Given the description of an element on the screen output the (x, y) to click on. 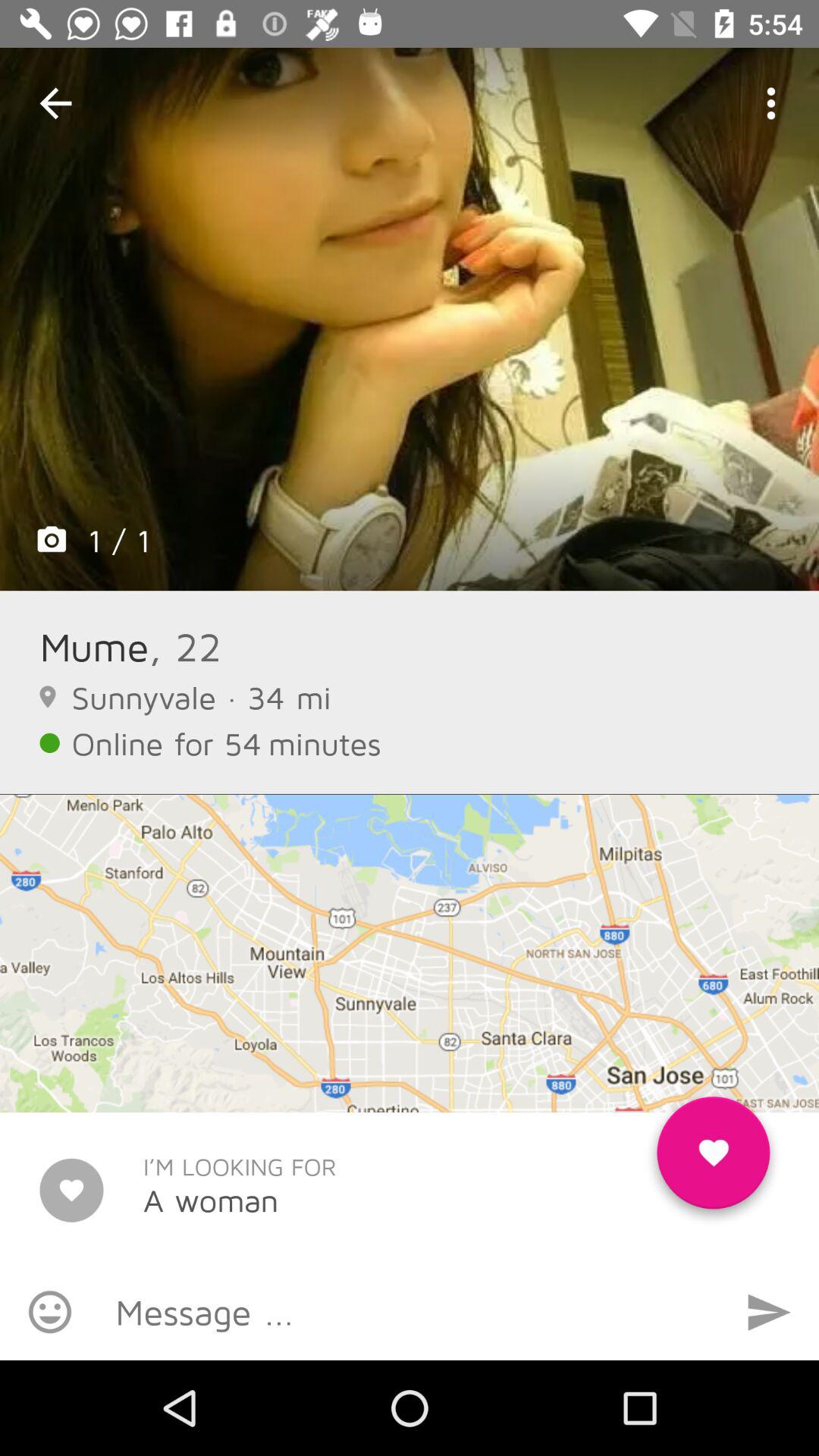
send message (769, 1312)
